Given the description of an element on the screen output the (x, y) to click on. 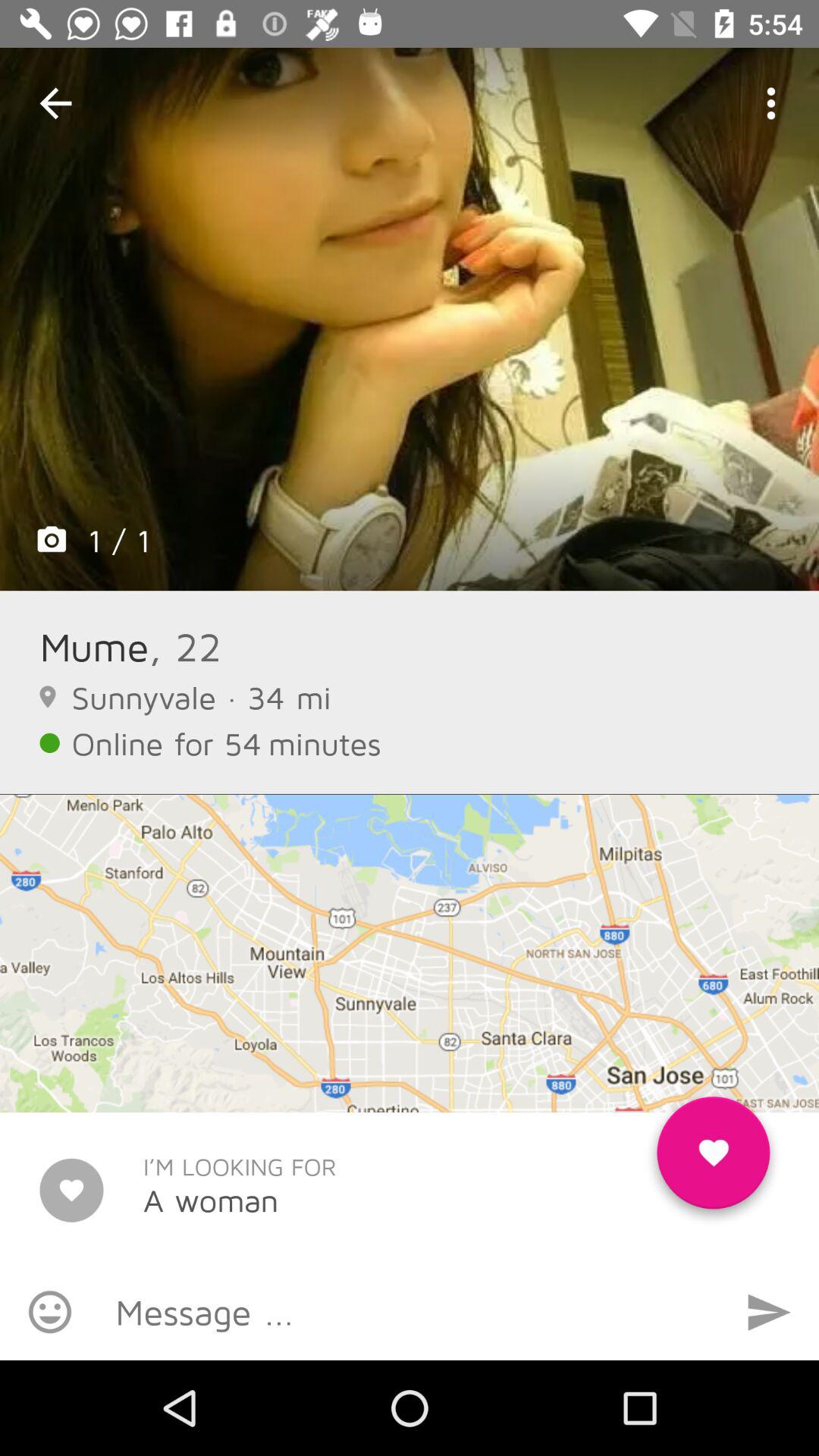
send message (769, 1312)
